Given the description of an element on the screen output the (x, y) to click on. 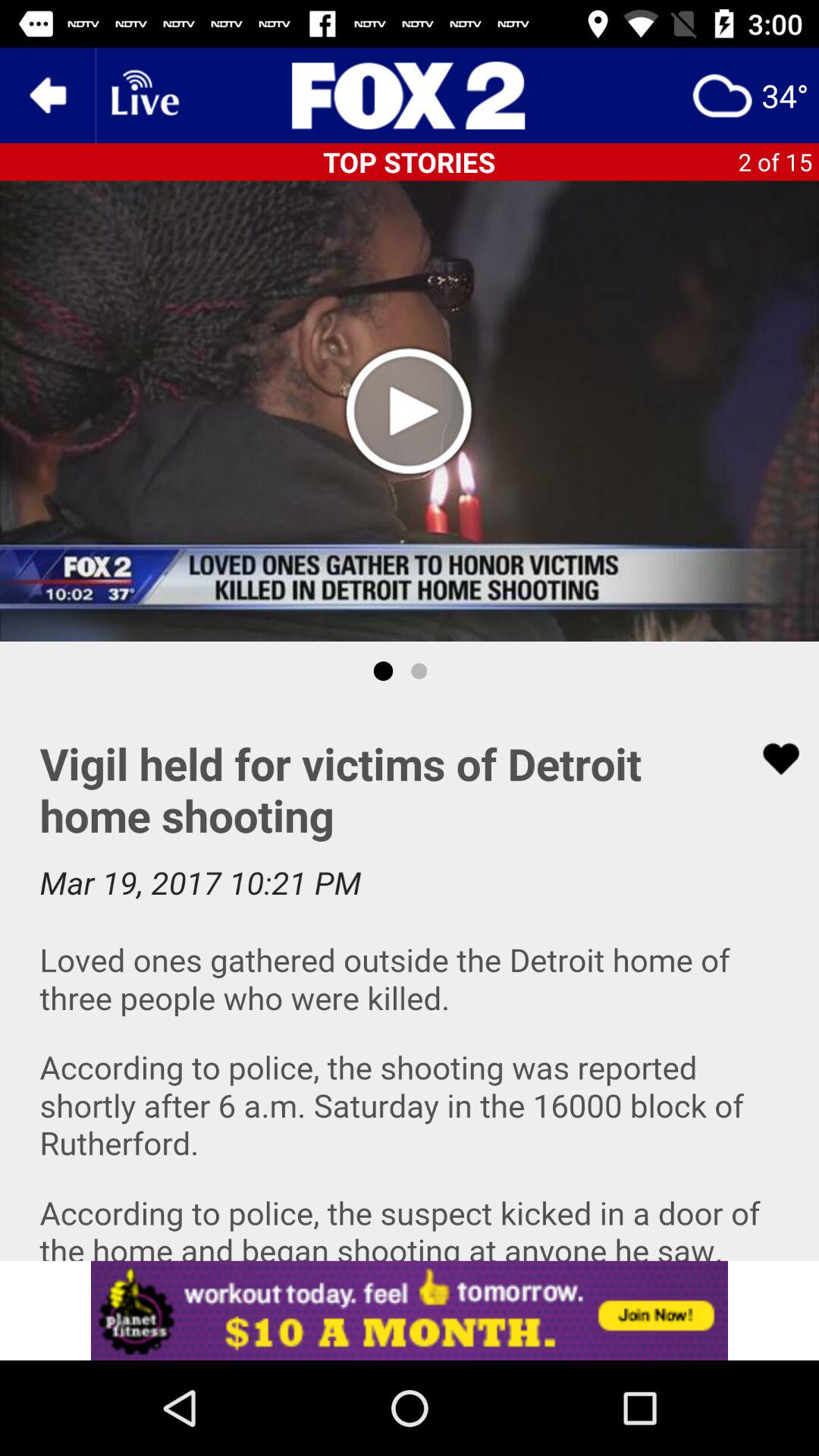
like button (771, 758)
